Given the description of an element on the screen output the (x, y) to click on. 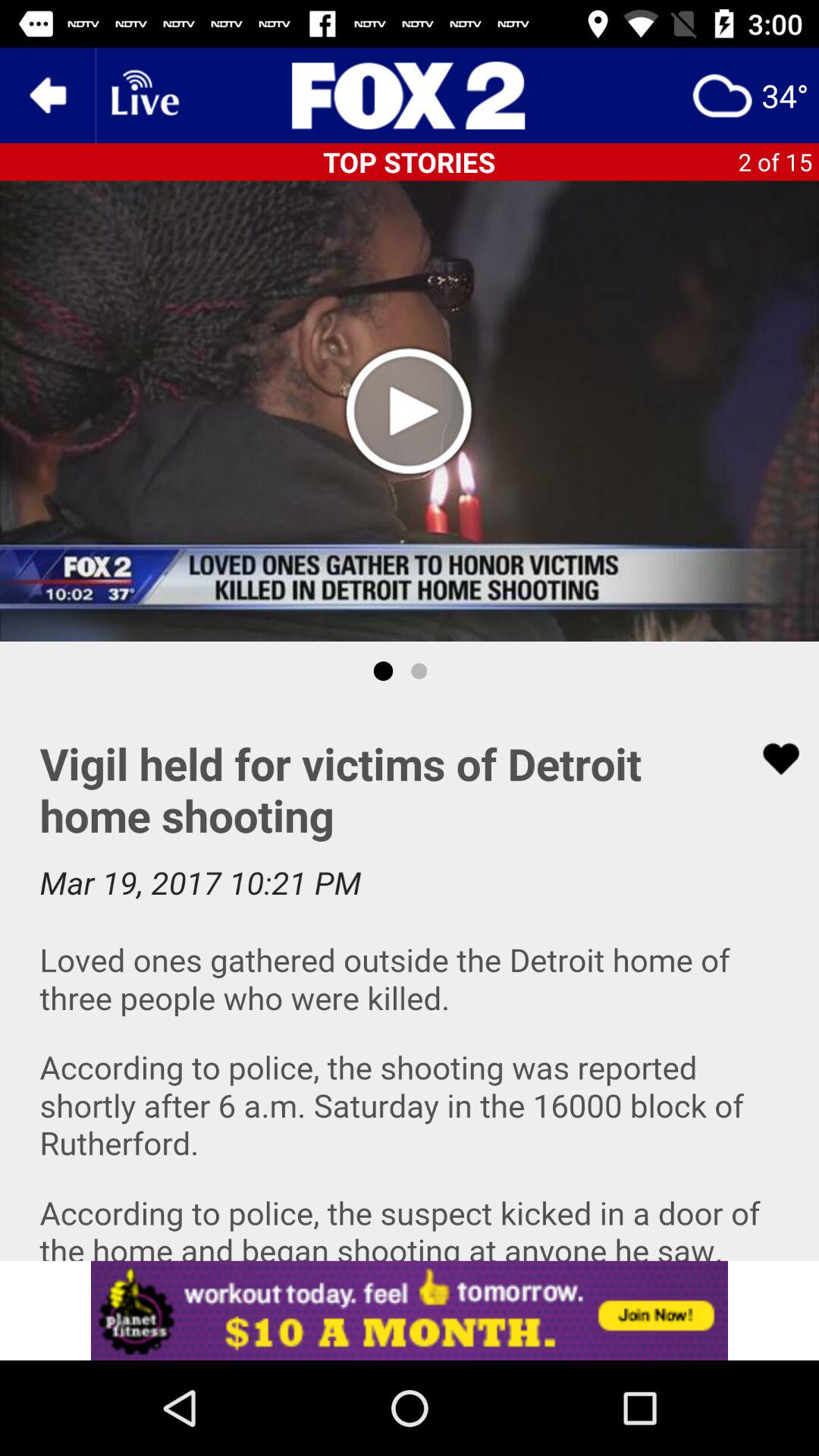
like button (771, 758)
